Given the description of an element on the screen output the (x, y) to click on. 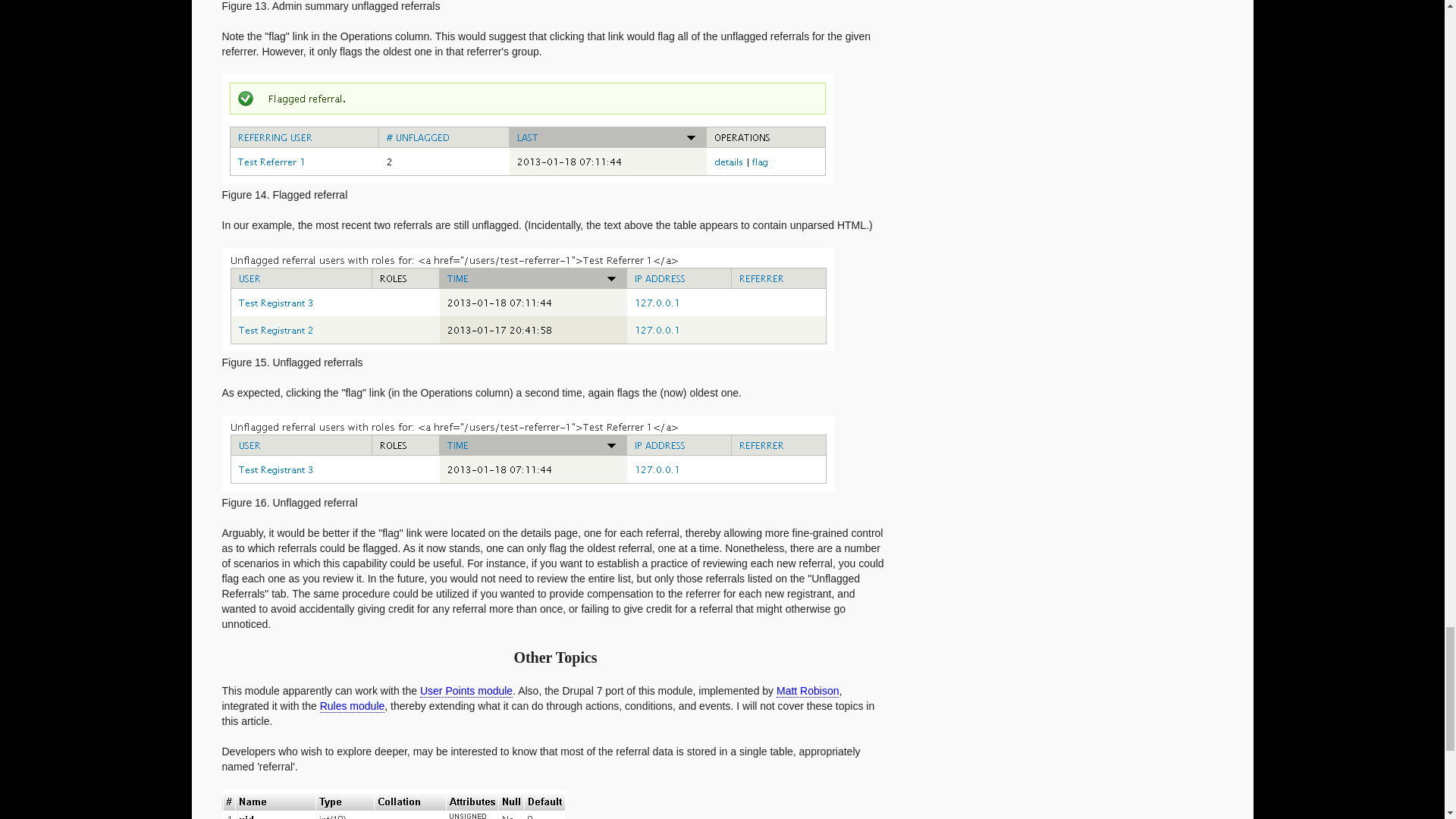
User Points module (466, 690)
Rules module (352, 706)
Matt Robison (807, 690)
